Given the description of an element on the screen output the (x, y) to click on. 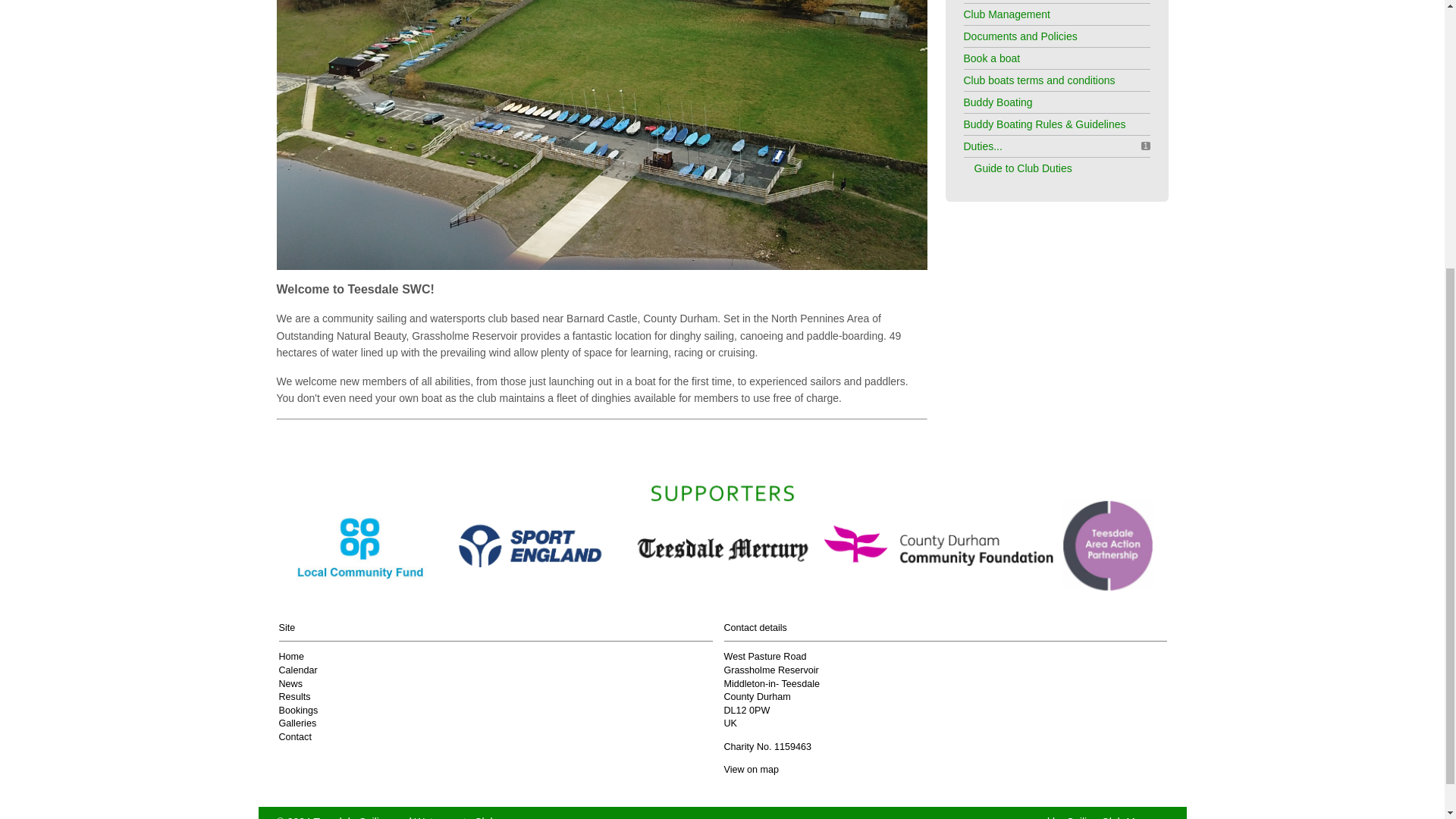
Club Management (1005, 14)
Club boats terms and conditions (1038, 80)
Documents and Policies (1019, 36)
Buddy Boating (997, 102)
Duties... (981, 146)
Book a boat (991, 58)
